Given the description of an element on the screen output the (x, y) to click on. 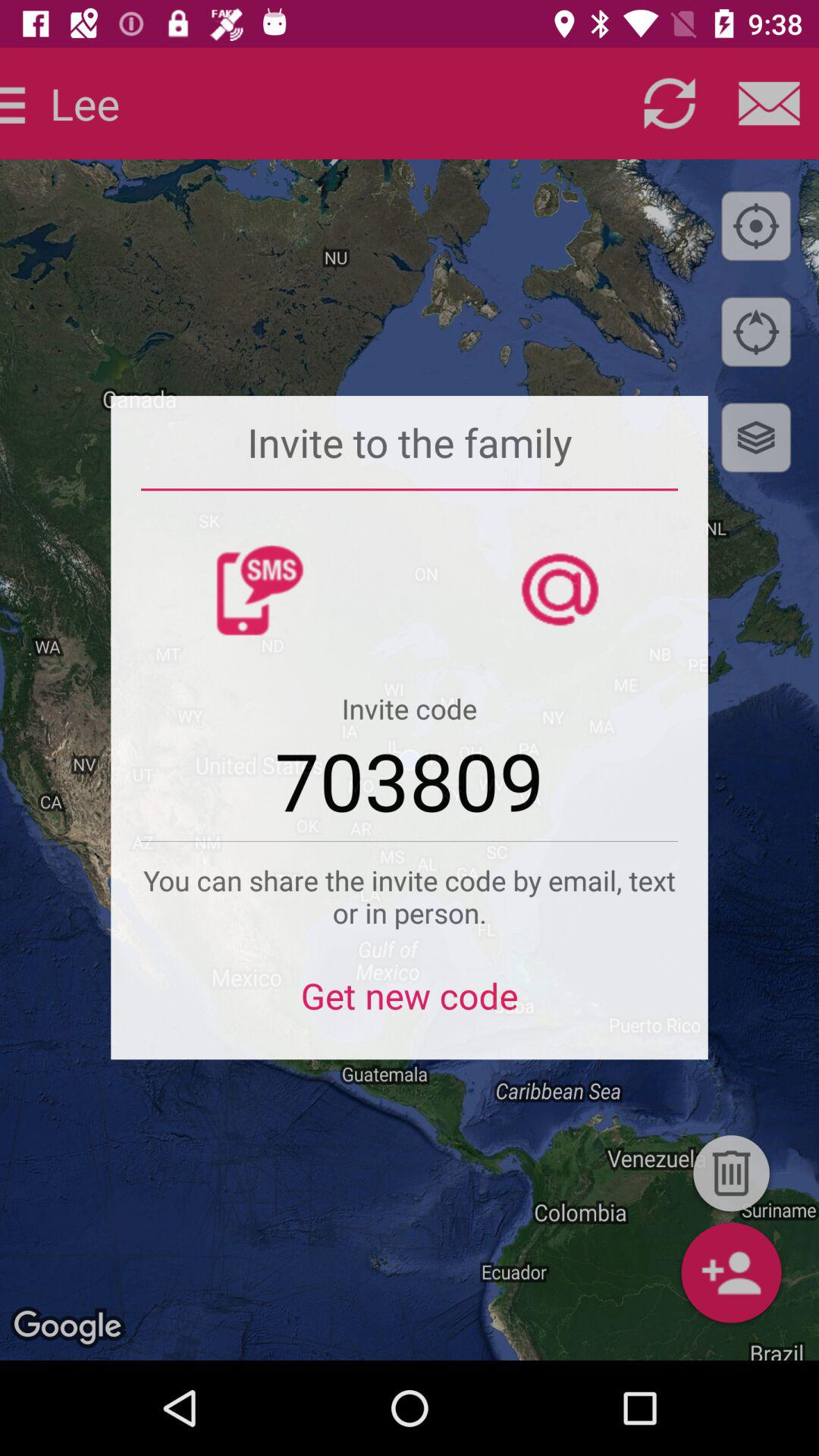
go to mail (769, 103)
